Given the description of an element on the screen output the (x, y) to click on. 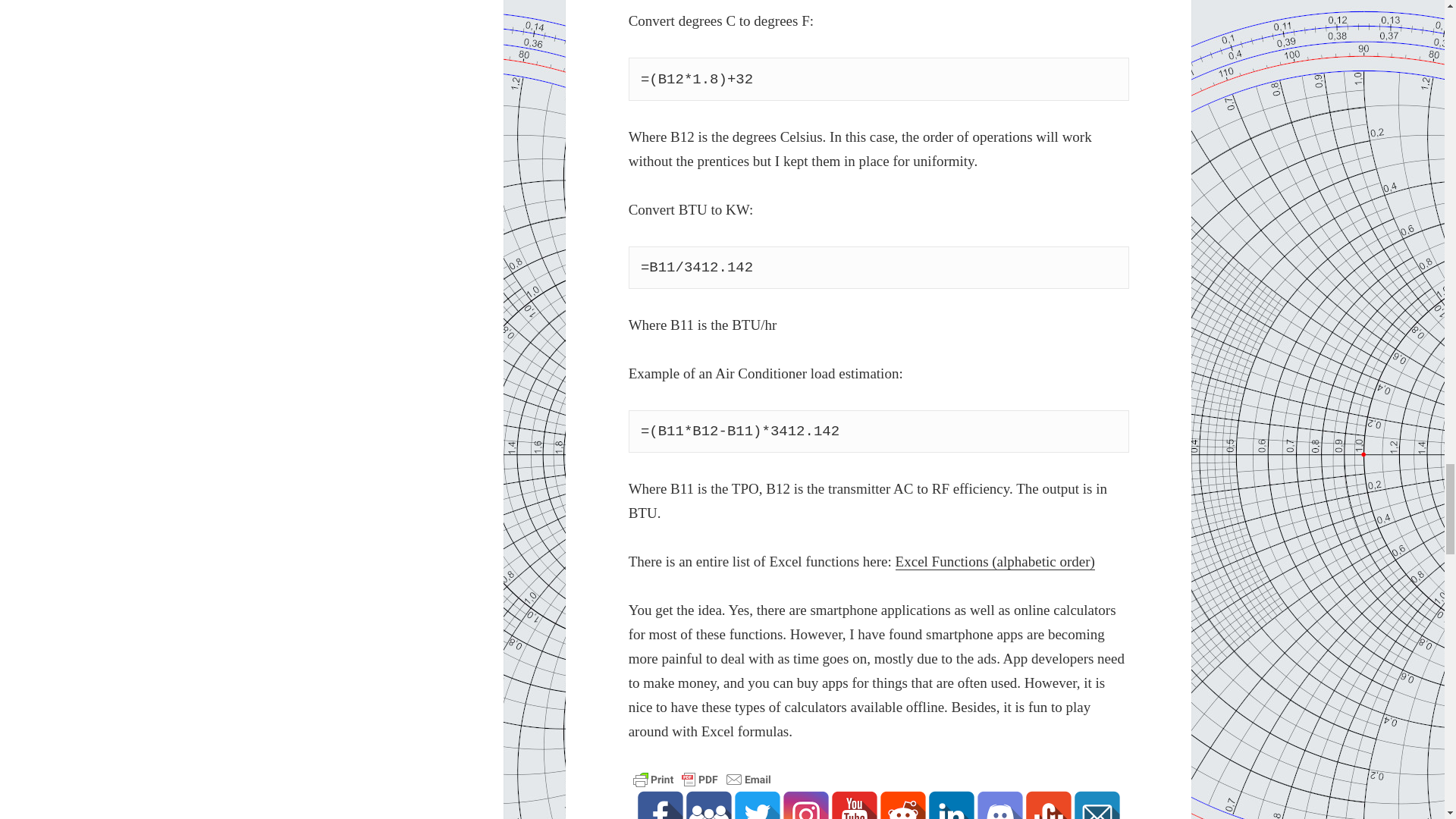
LinkedIn (951, 805)
Twitter (757, 805)
YouTube (854, 805)
StumbleUpon (1049, 805)
Discord (1000, 805)
Facebook (660, 805)
Facebook Group (708, 805)
Instagram (805, 805)
Email (1097, 805)
Reddit (903, 805)
